Given the description of an element on the screen output the (x, y) to click on. 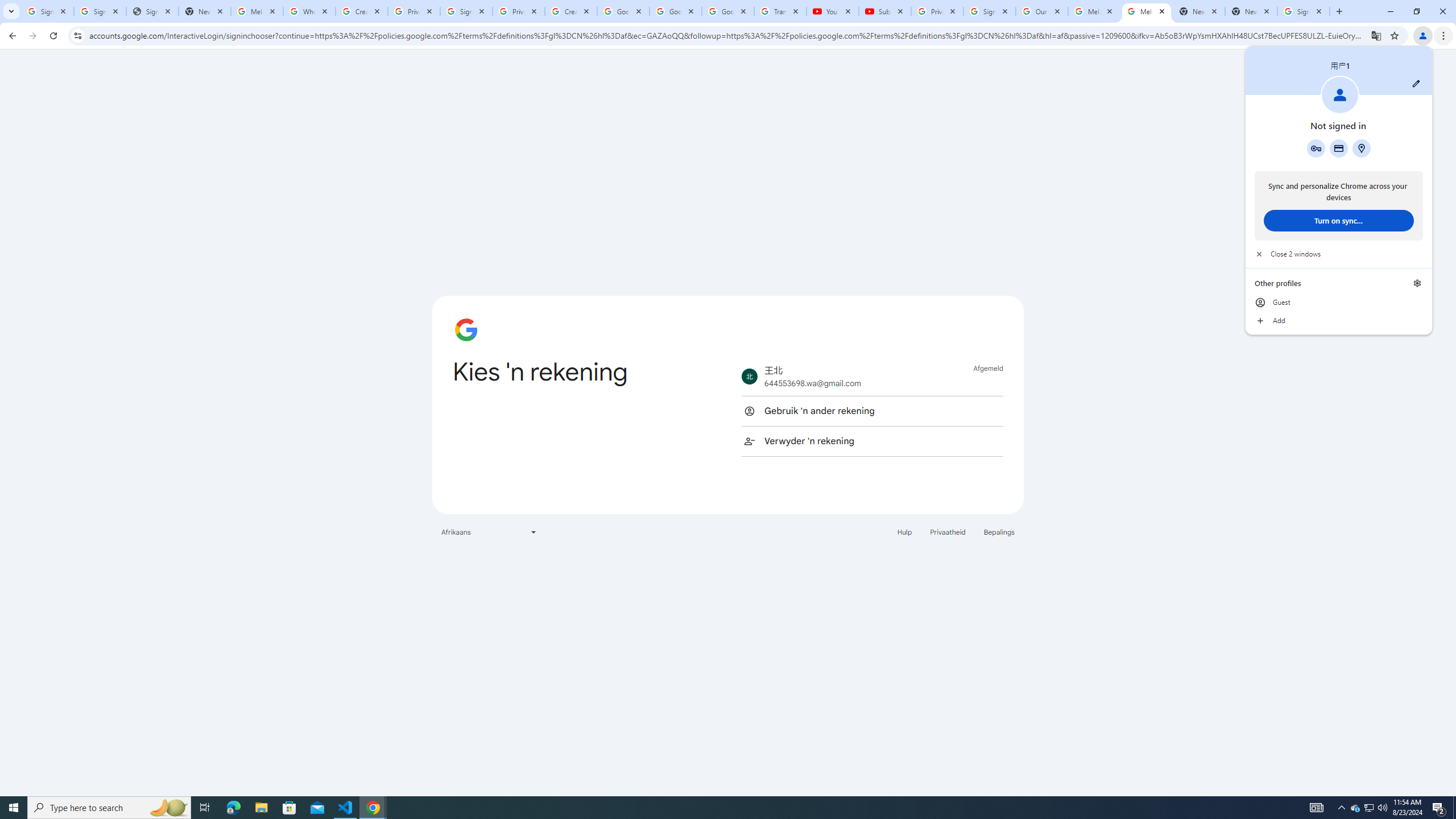
Verwyder 'n rekening (871, 440)
Visual Studio Code - 1 running window (345, 807)
Payment methods (1338, 148)
Manage profiles (1417, 283)
Hulp (903, 531)
Addresses and more (1361, 148)
Microsoft Store (289, 807)
